Given the description of an element on the screen output the (x, y) to click on. 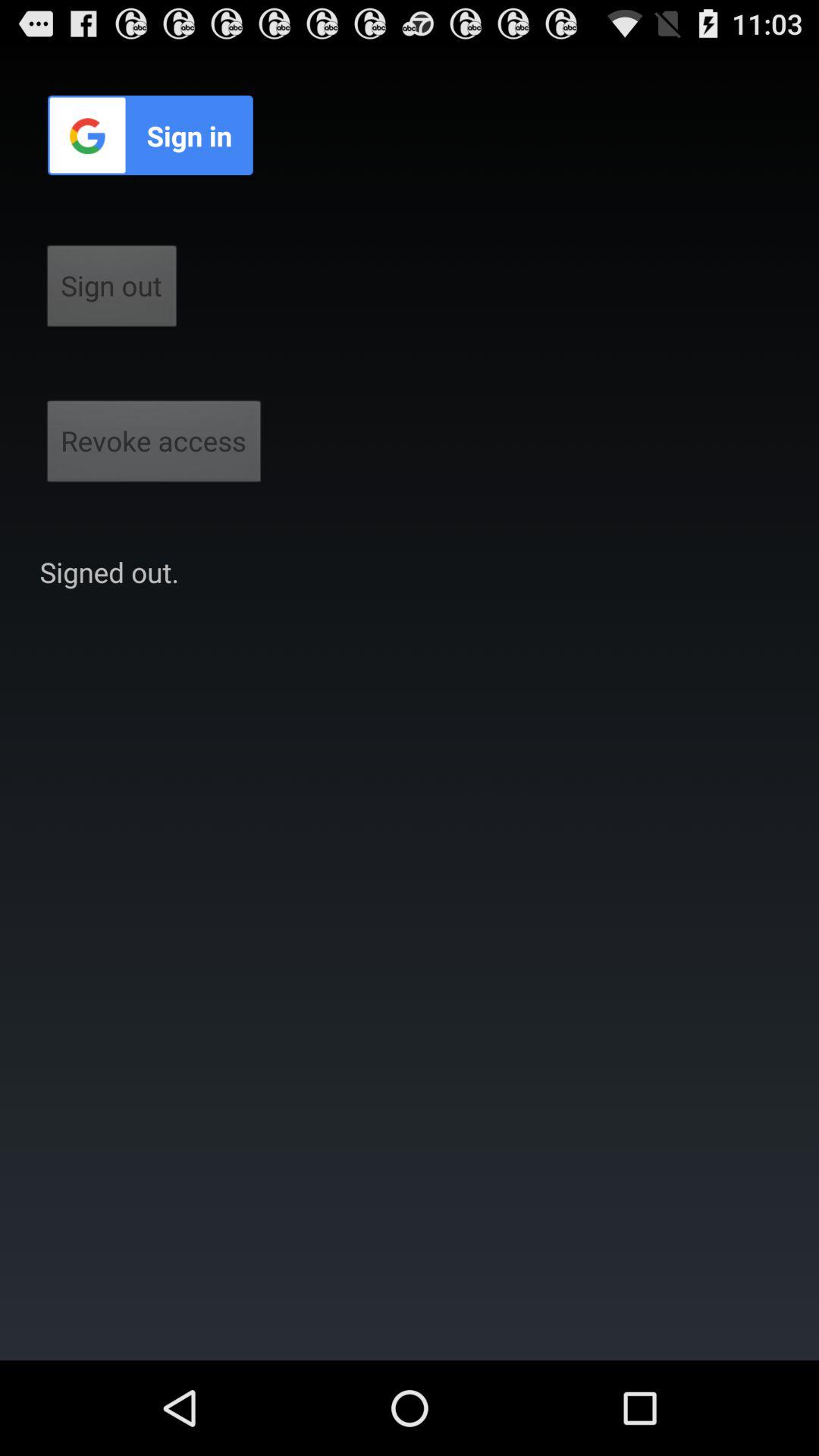
launch the item above sign out item (150, 135)
